Given the description of an element on the screen output the (x, y) to click on. 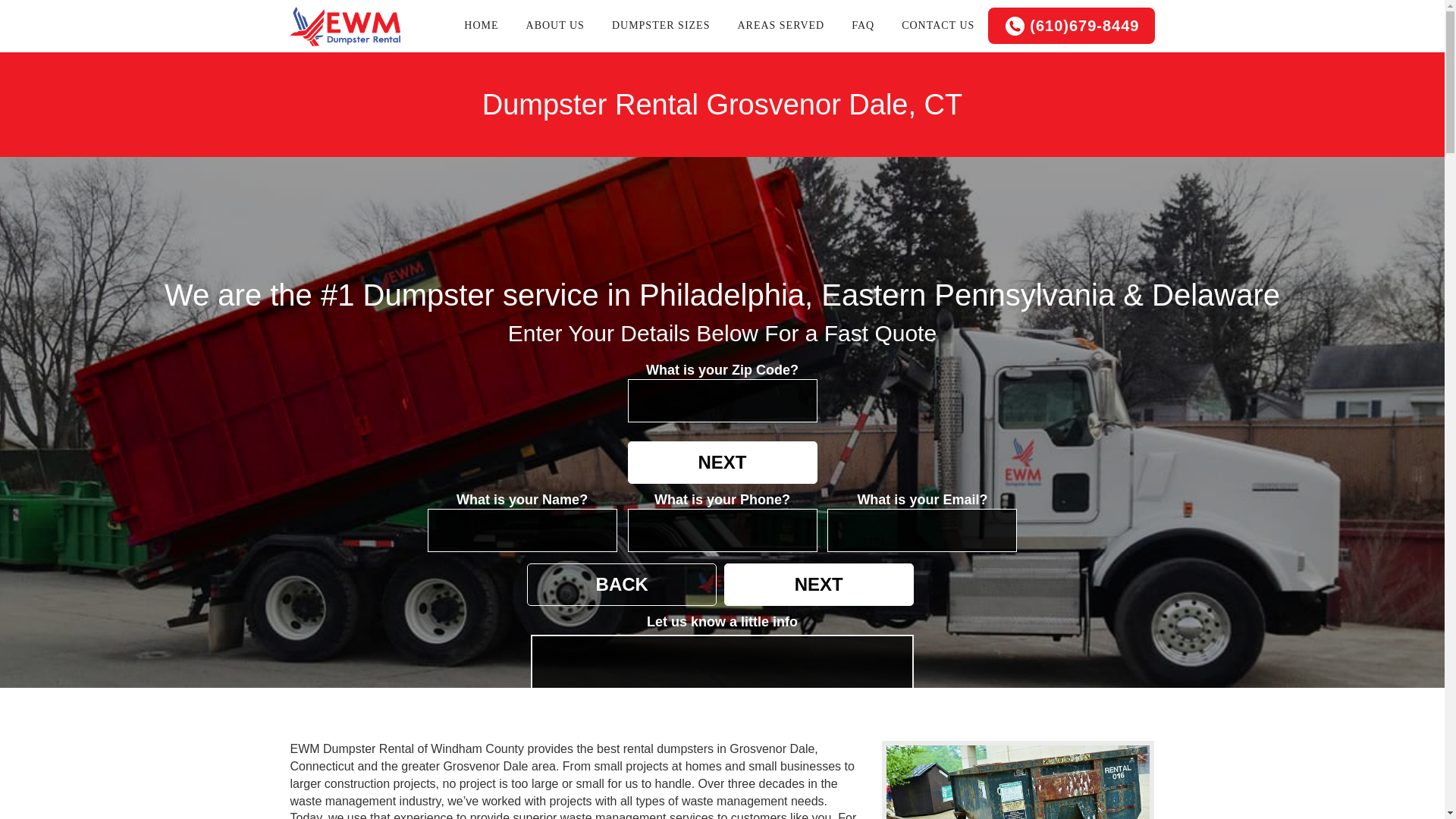
AREAS SERVED (780, 26)
FAQ (863, 26)
ABOUT US (555, 26)
Send (817, 785)
HOME (480, 26)
DUMPSTER SIZES (660, 26)
CONTACT US (938, 26)
BACK (621, 584)
NEXT (721, 462)
NEXT (818, 584)
